Given the description of an element on the screen output the (x, y) to click on. 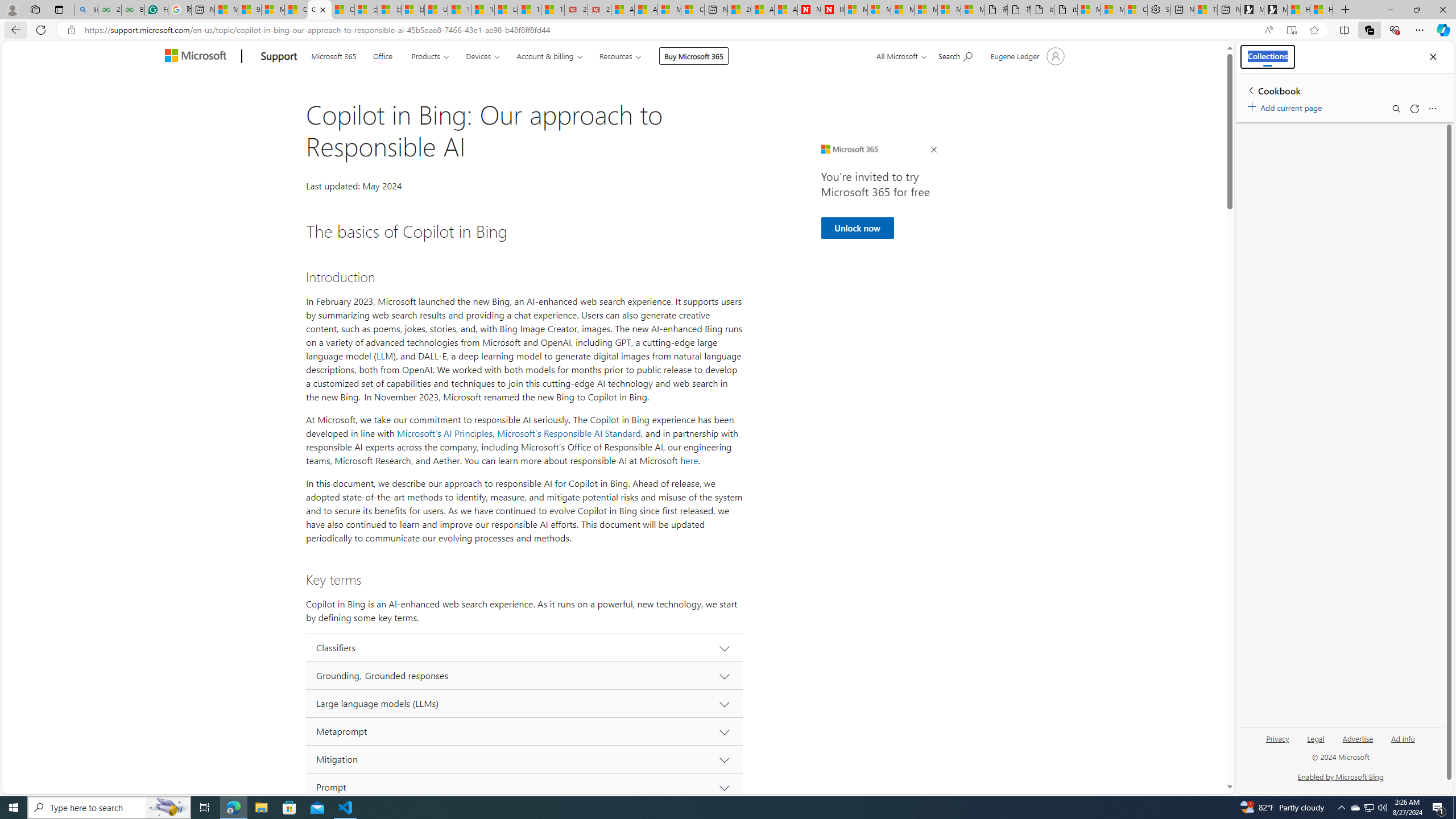
Free AI Writing Assistance for Students | Grammarly (156, 9)
21 Movies That Outdid the Books They Were Based On (598, 9)
